Given the description of an element on the screen output the (x, y) to click on. 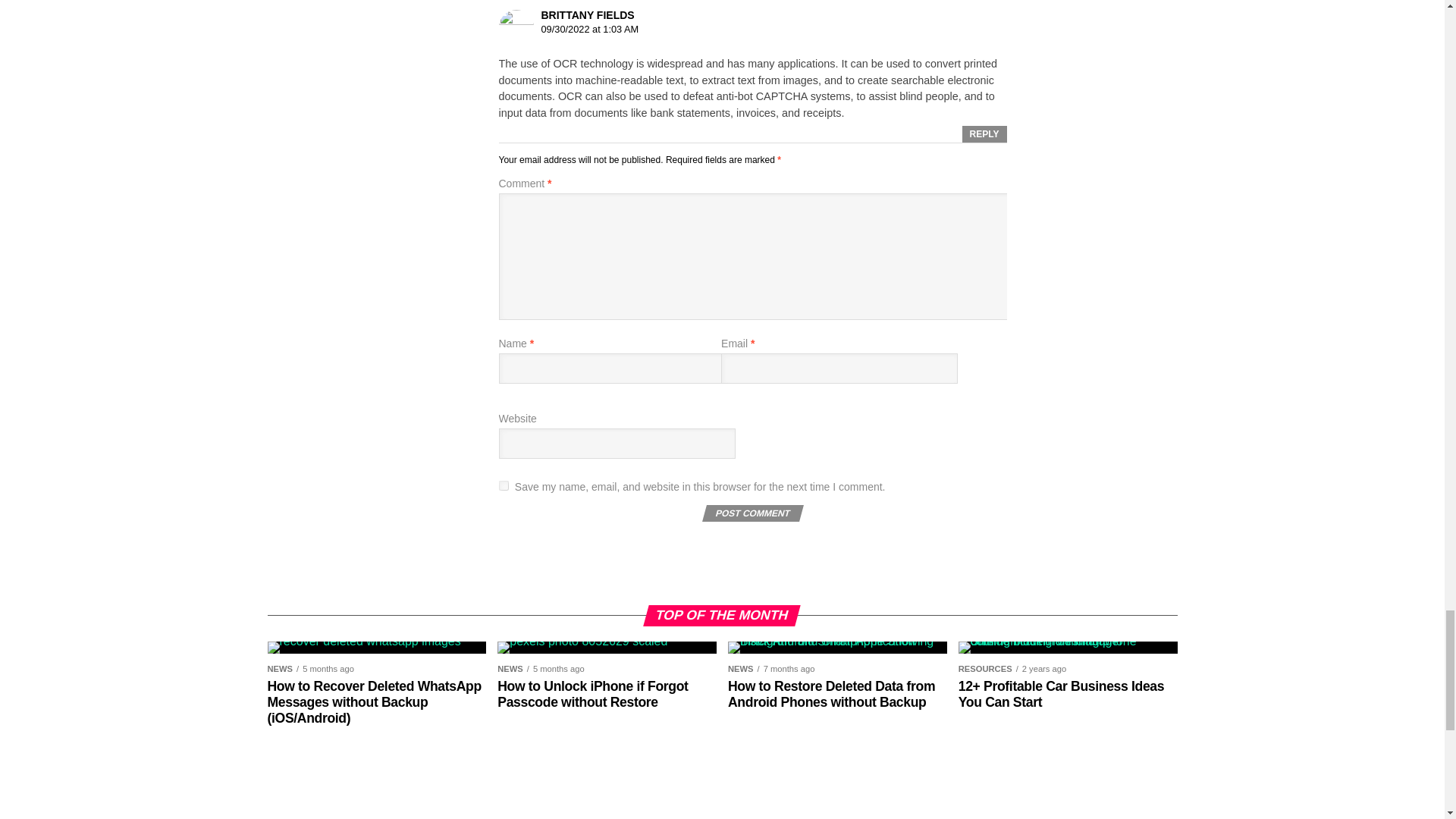
yes (503, 485)
Post Comment (750, 513)
